Given the description of an element on the screen output the (x, y) to click on. 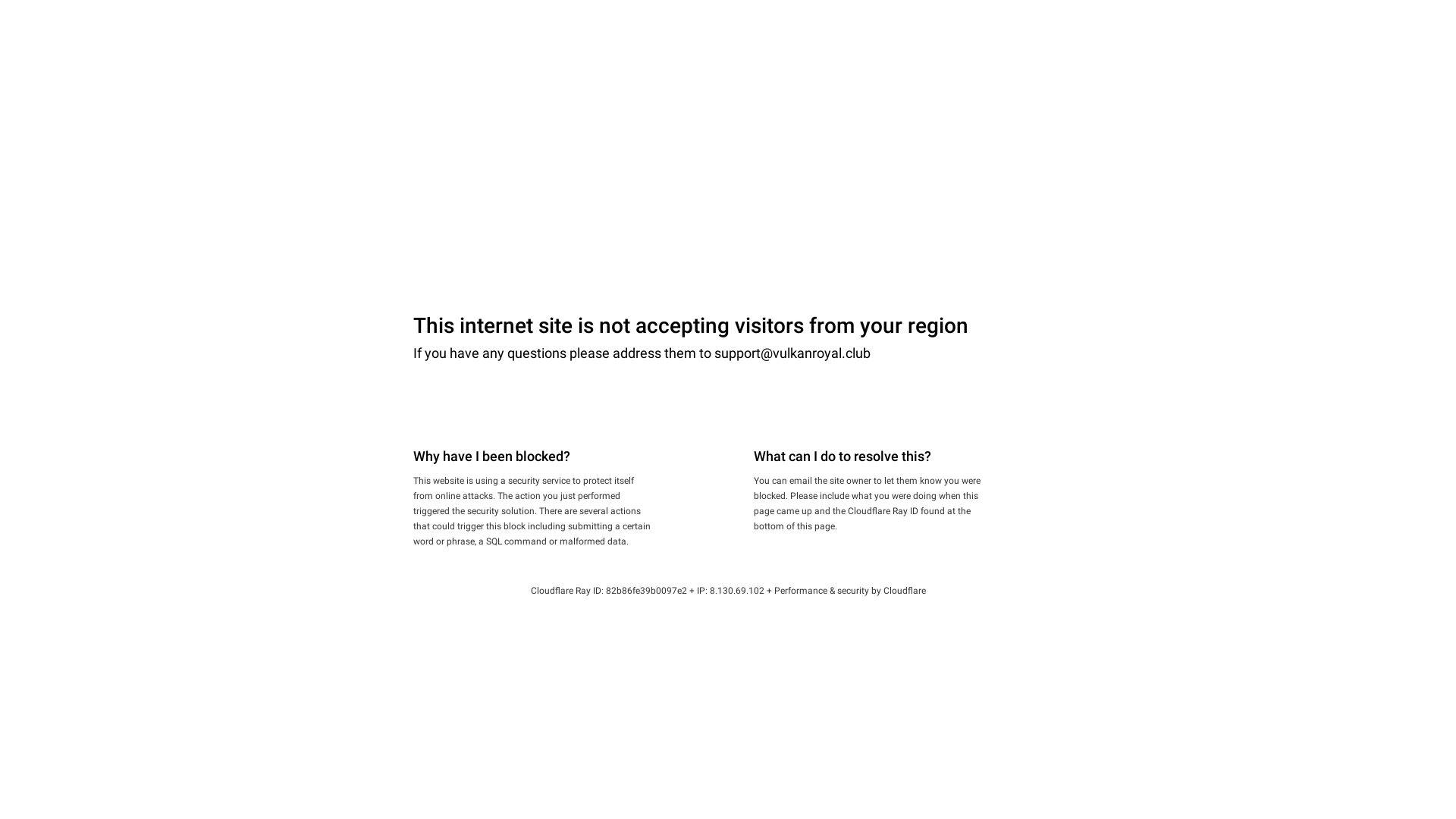
Cloudflare Element type: text (903, 590)
